Given the description of an element on the screen output the (x, y) to click on. 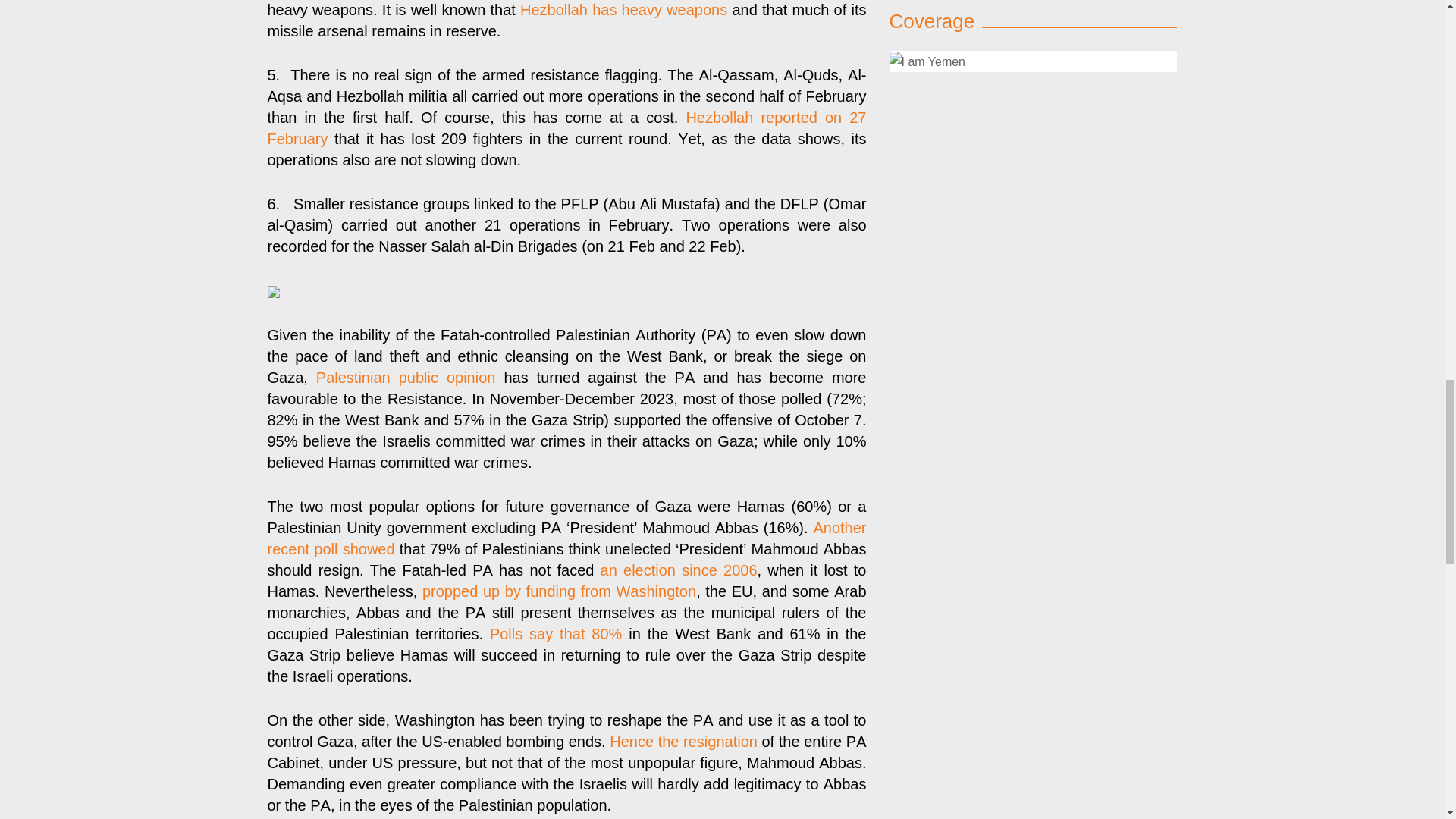
I am Yemen (1032, 25)
I am Yemen (926, 25)
